Given the description of an element on the screen output the (x, y) to click on. 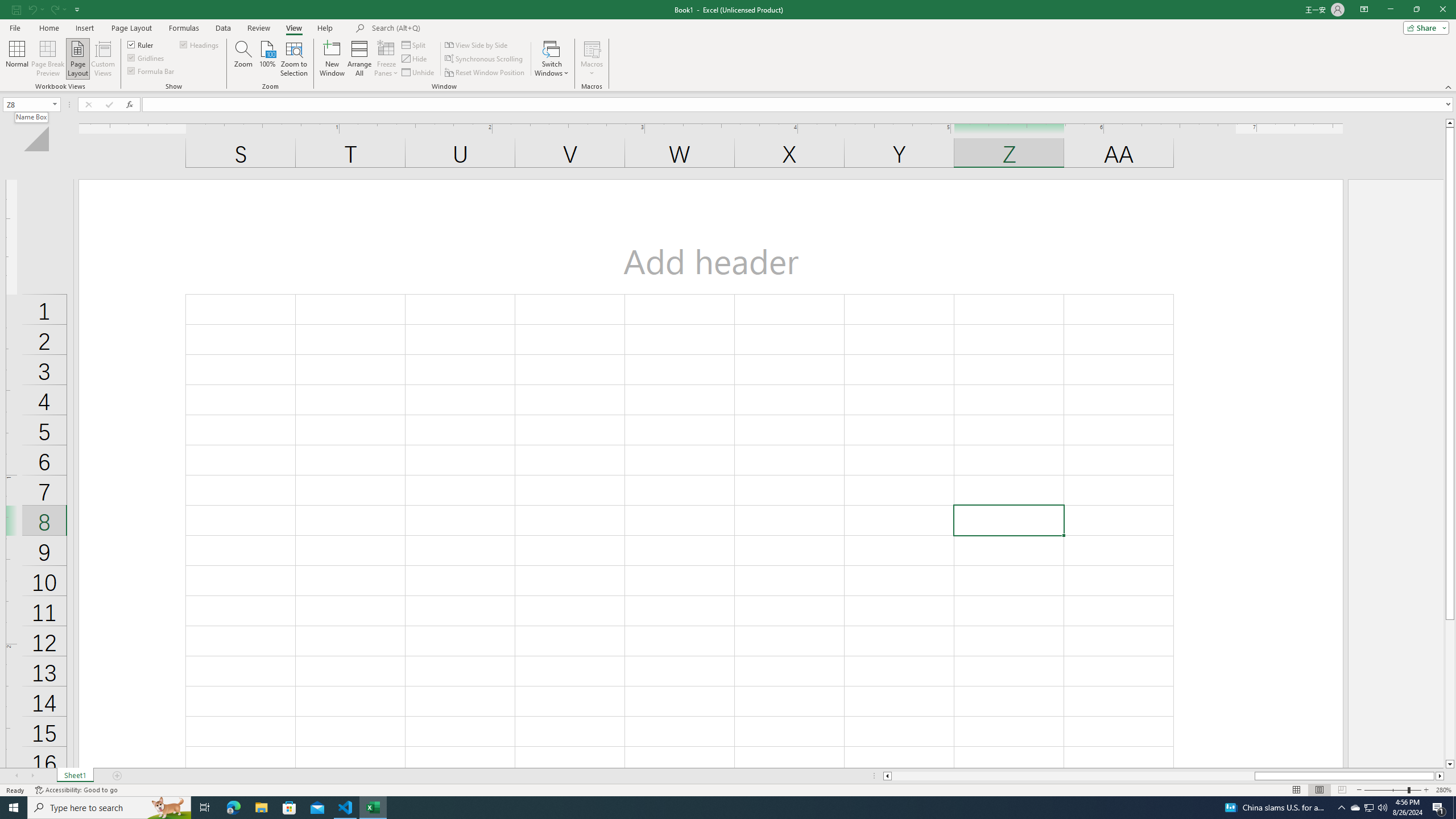
Macros (591, 58)
Reset Window Position (485, 72)
Gridlines (146, 56)
100% (266, 58)
